Given the description of an element on the screen output the (x, y) to click on. 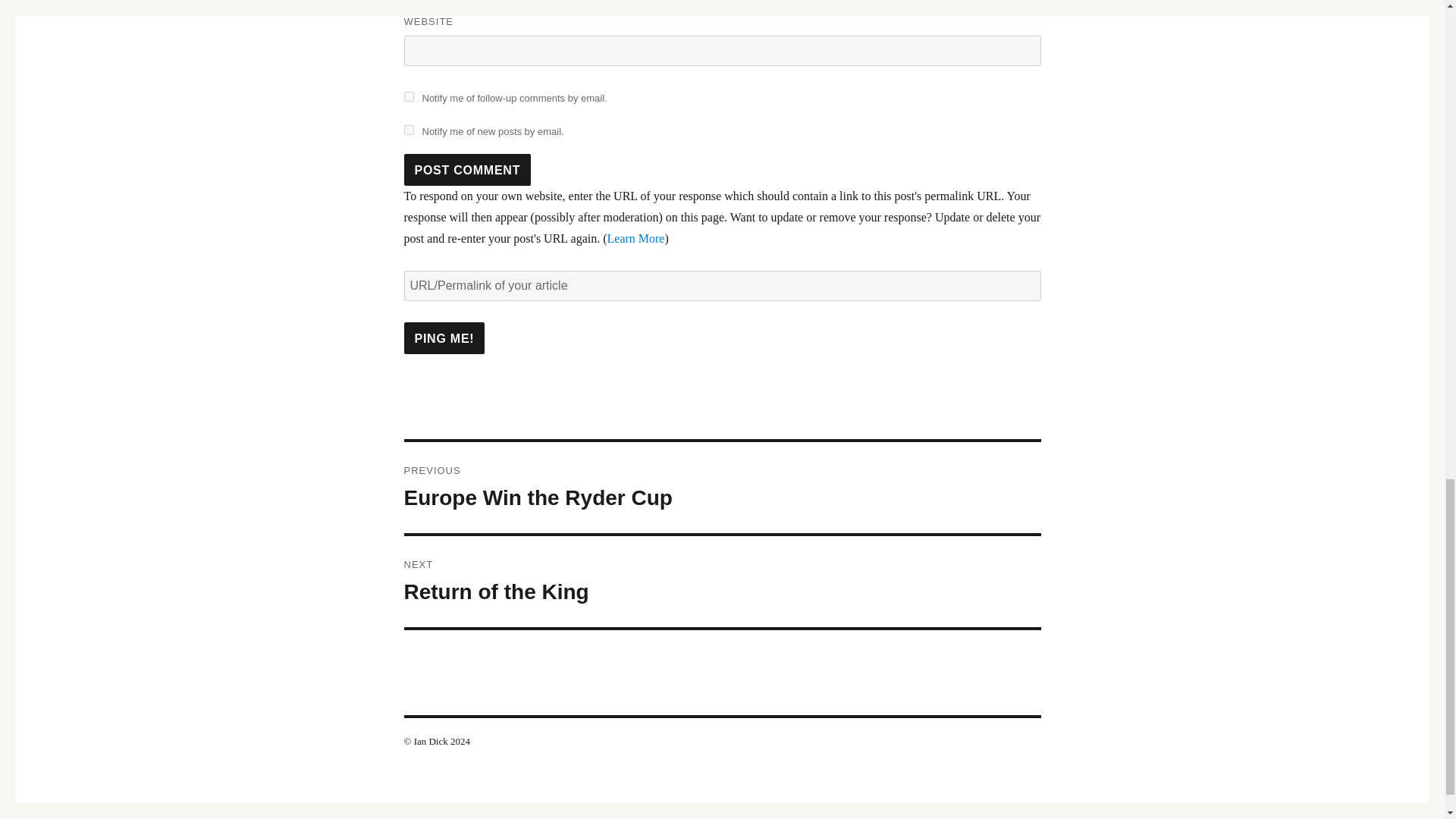
Post Comment (467, 169)
Ping me! (722, 487)
subscribe (443, 337)
Ping me! (408, 96)
subscribe (443, 337)
Post Comment (408, 130)
Learn More (467, 169)
